Given the description of an element on the screen output the (x, y) to click on. 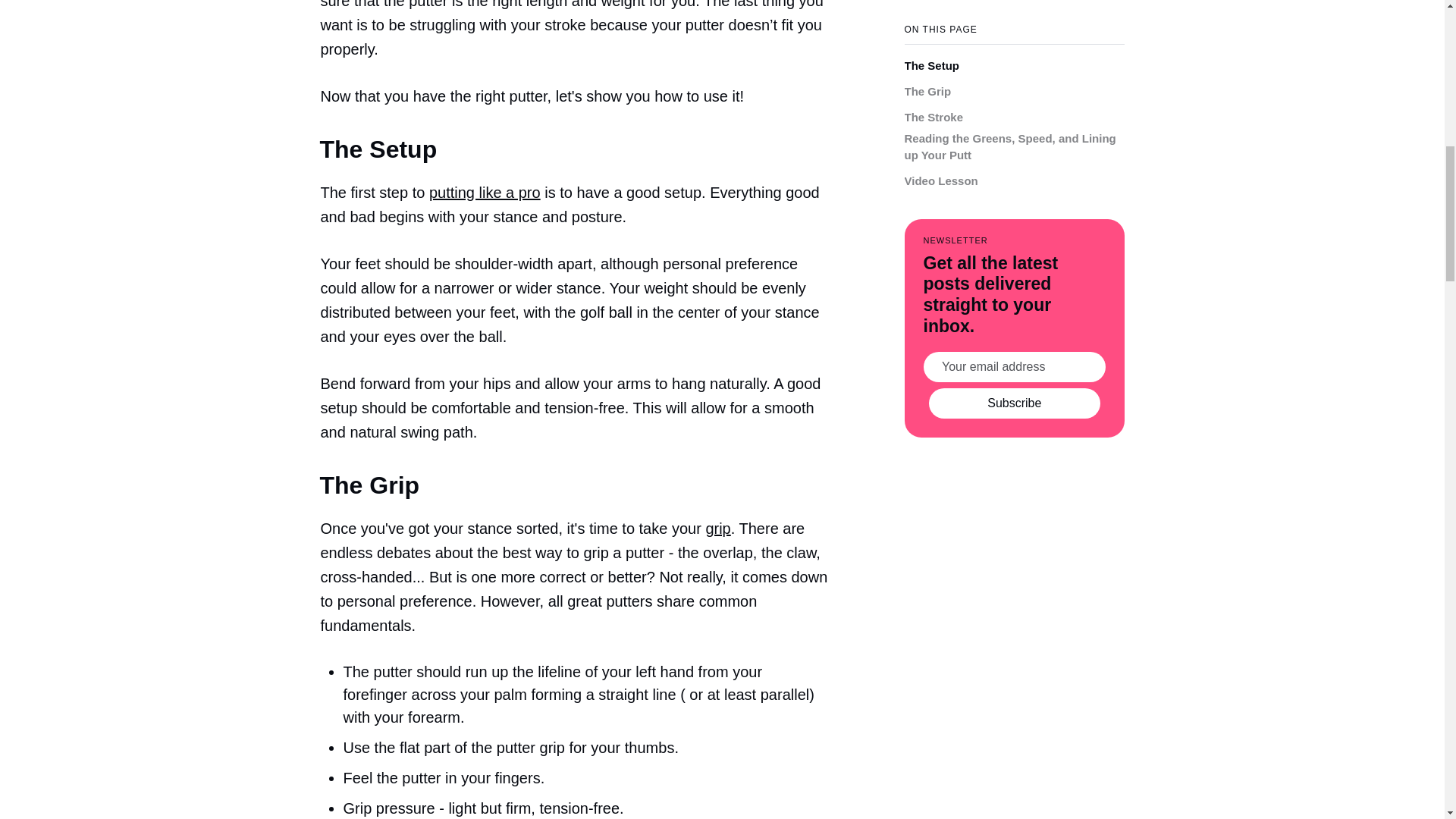
The Grip (927, 67)
The Stroke (933, 93)
The Setup (931, 41)
Video Lesson (940, 157)
Subscribe (1014, 378)
grip (717, 528)
putting like a pro (484, 192)
Reading the Greens, Speed, and Lining up Your Putt (1014, 123)
